Given the description of an element on the screen output the (x, y) to click on. 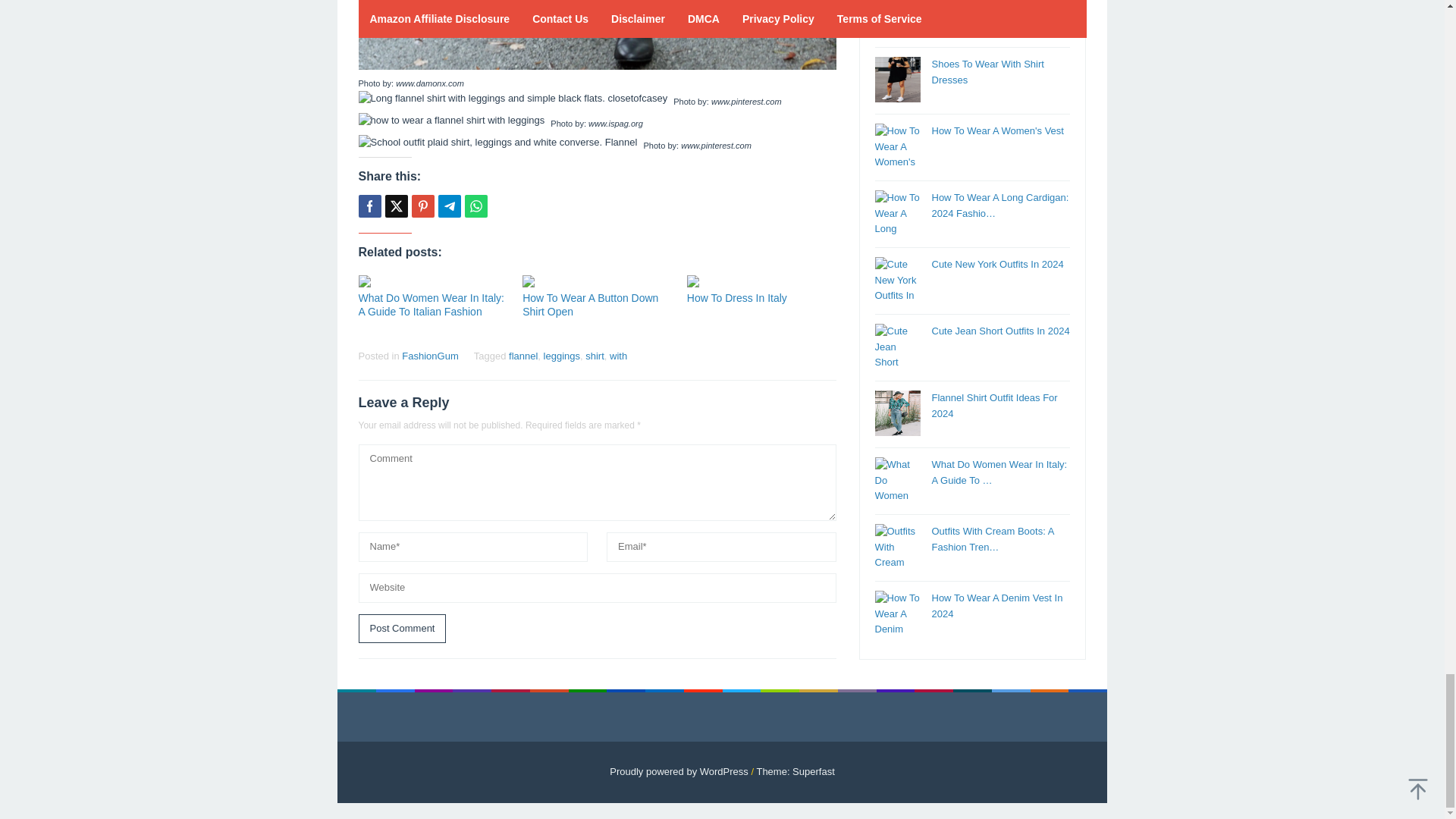
How To Wear A Button Down Shirt Open (590, 304)
Whatsapp (475, 205)
Telegram Share (449, 205)
with (618, 355)
FashionGum (429, 355)
Post Comment (401, 628)
Permalink to: How To Dress In Italy (737, 297)
shirt (594, 355)
Post Comment (401, 628)
